Given the description of an element on the screen output the (x, y) to click on. 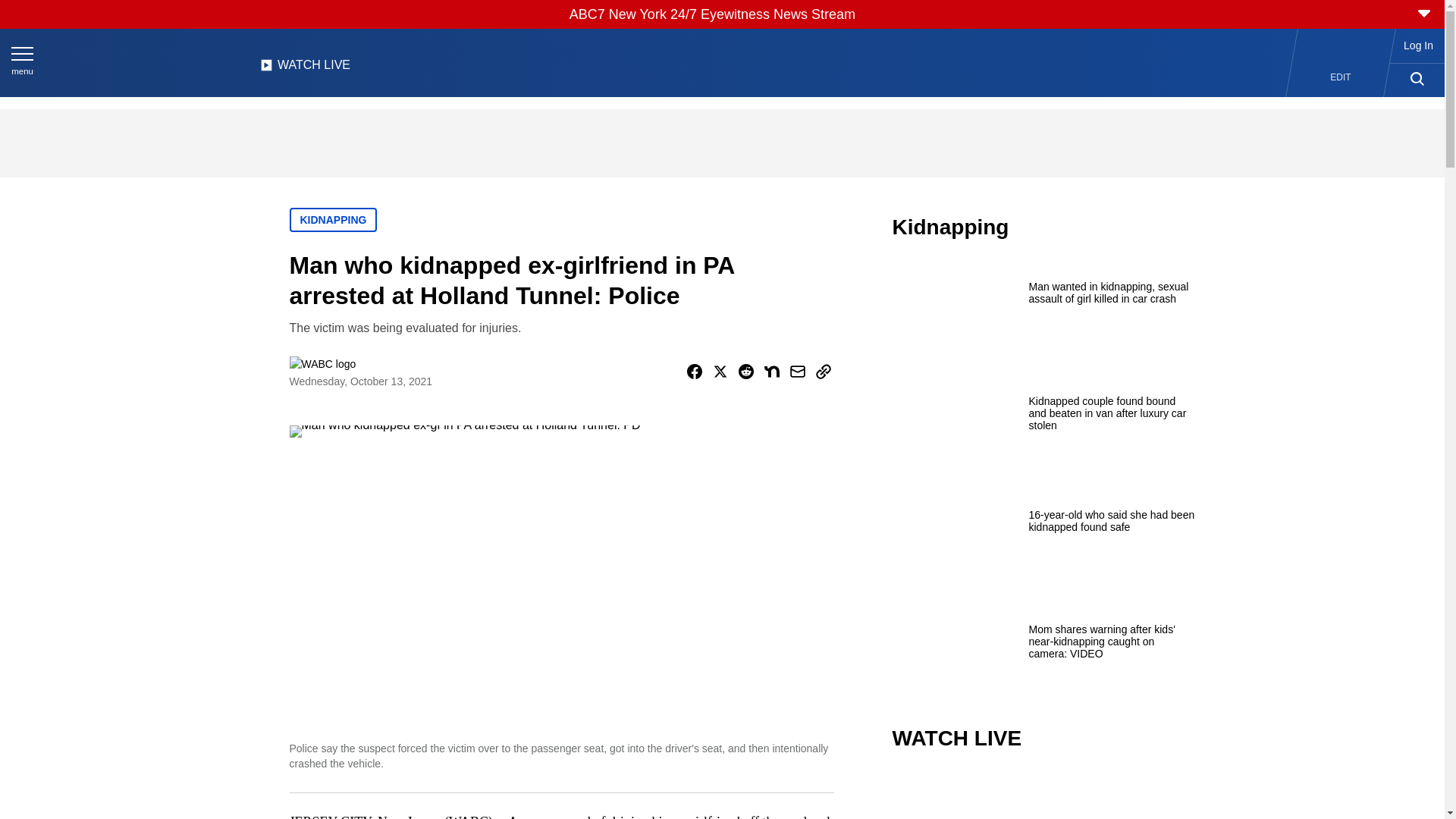
EDIT (1340, 77)
video.title (1043, 796)
WATCH LIVE (305, 69)
